Given the description of an element on the screen output the (x, y) to click on. 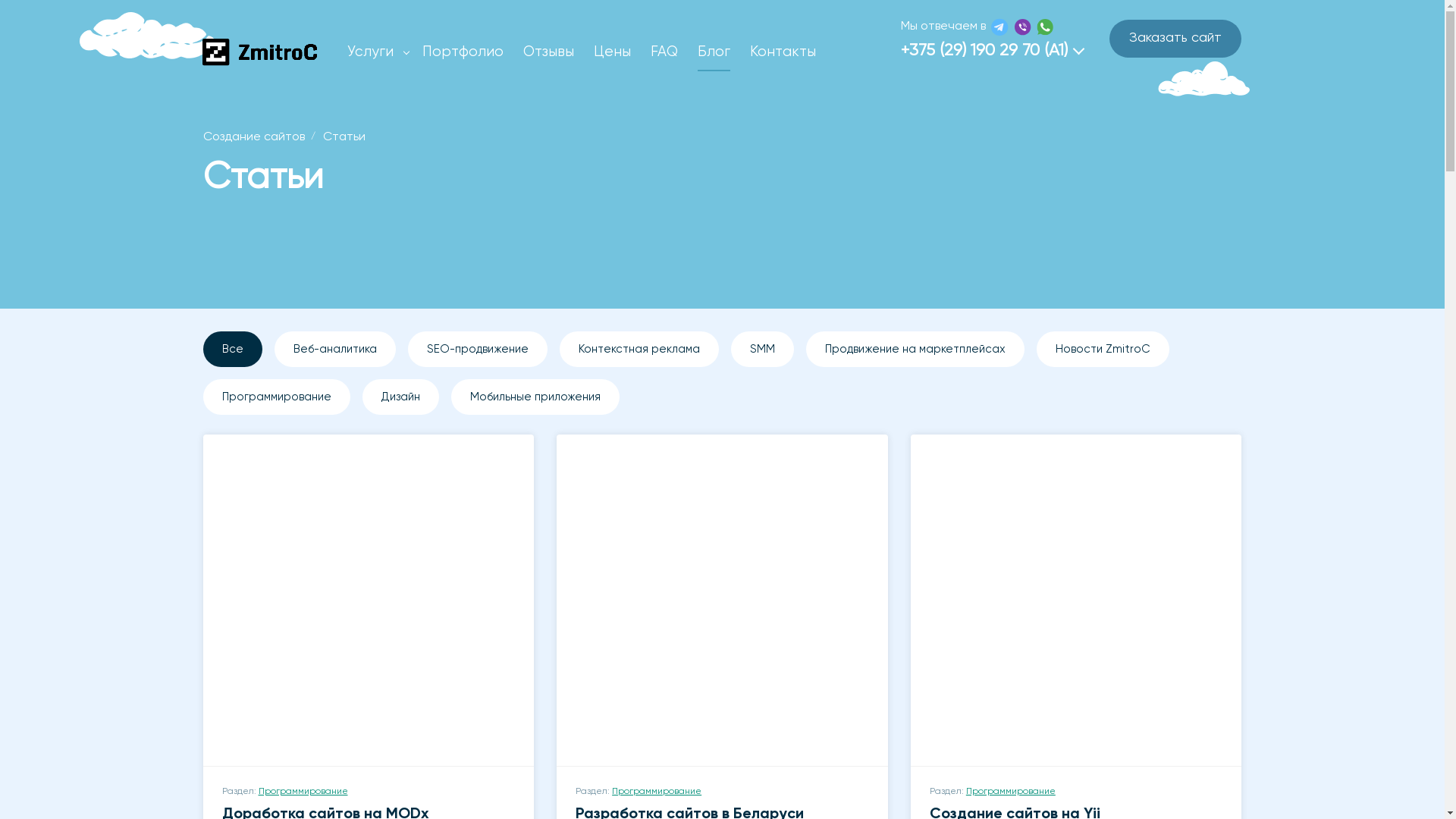
FAQ Element type: text (663, 52)
SMM Element type: text (762, 349)
